Given the description of an element on the screen output the (x, y) to click on. 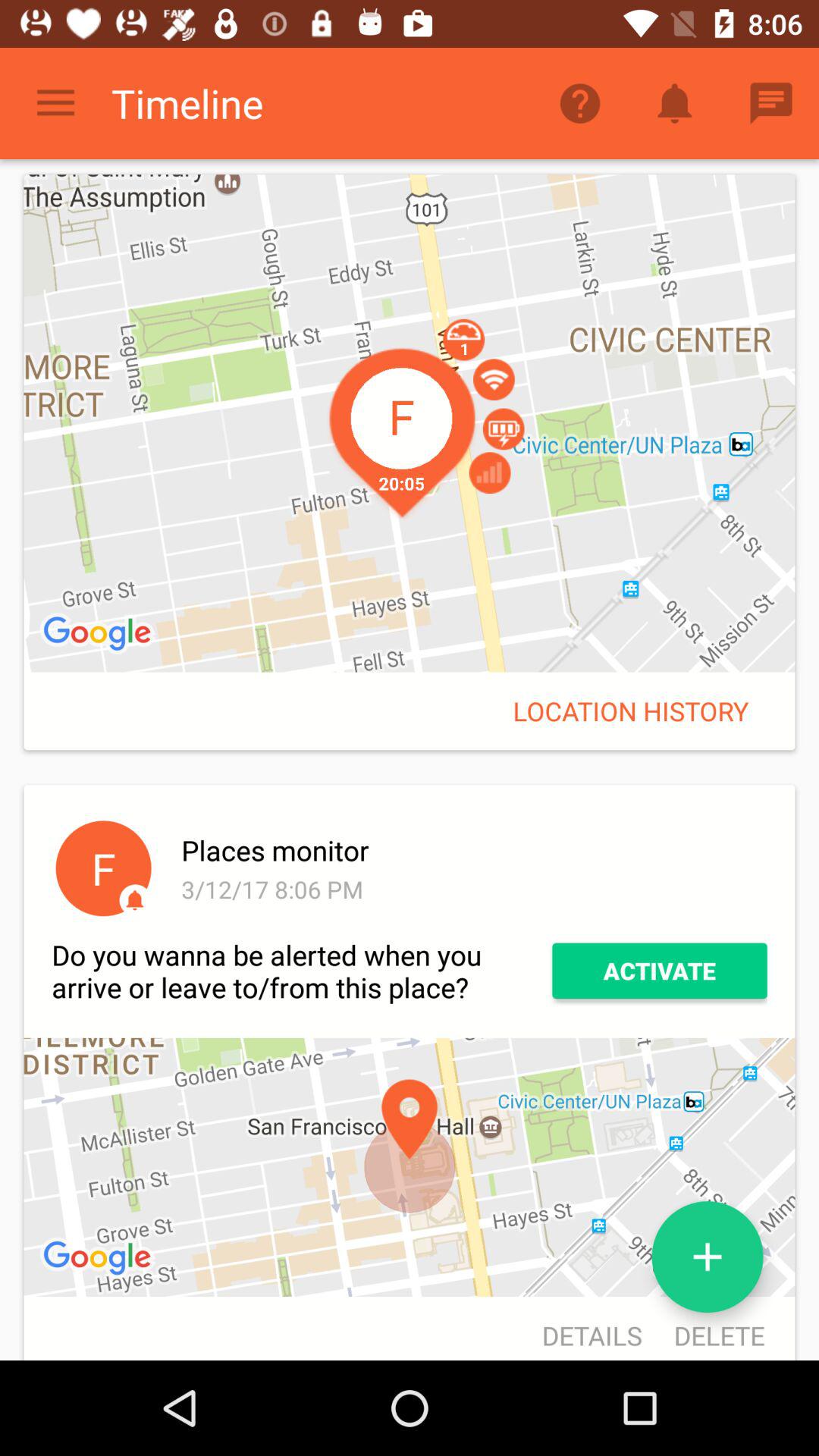
turn off the f icon (103, 868)
